Given the description of an element on the screen output the (x, y) to click on. 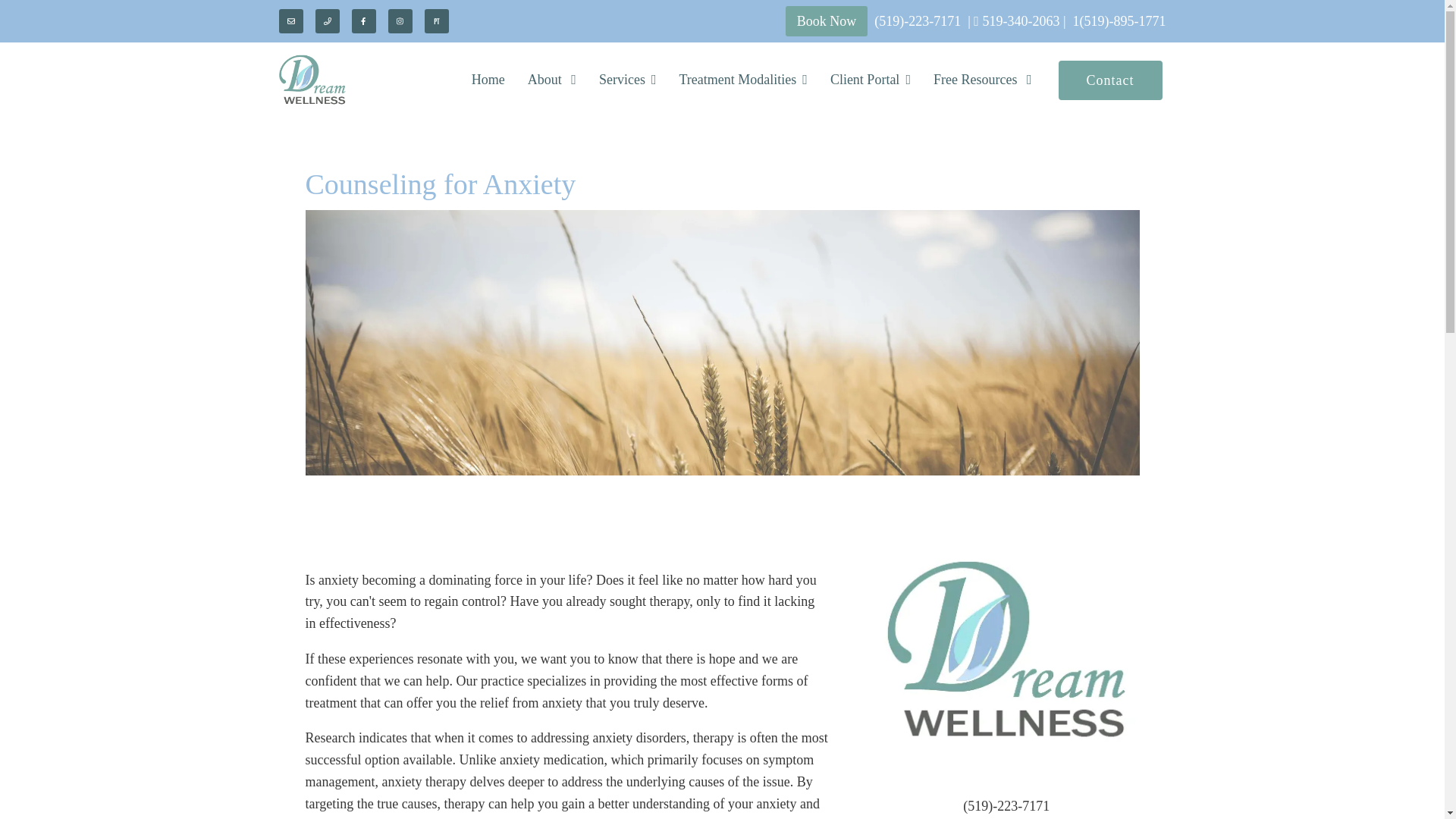
Home (488, 80)
About (551, 80)
Book Now (826, 20)
Services (627, 80)
